Given the description of an element on the screen output the (x, y) to click on. 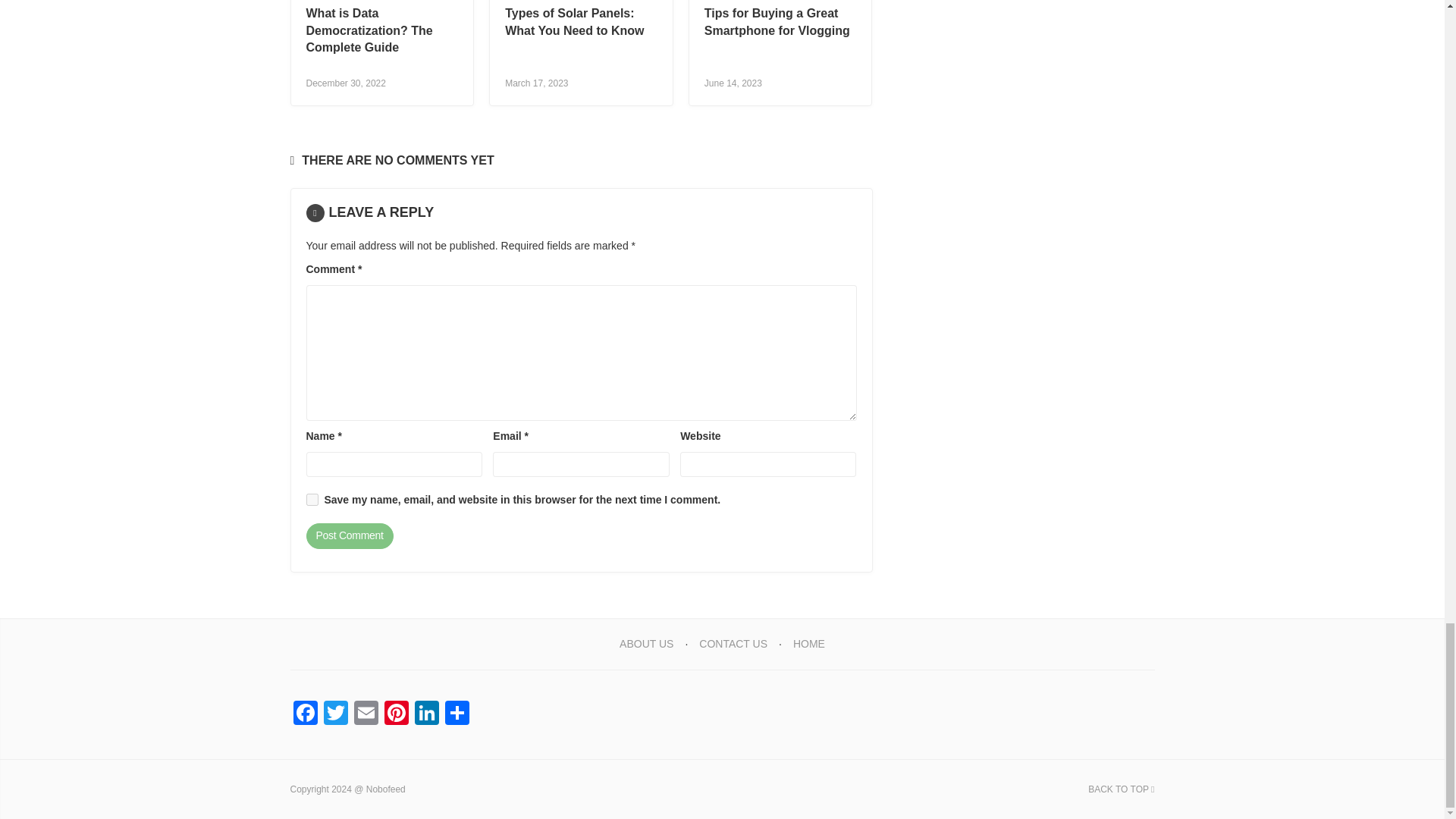
BACK TO TOP  (1120, 789)
yes (311, 499)
Post Comment (349, 535)
